Given the description of an element on the screen output the (x, y) to click on. 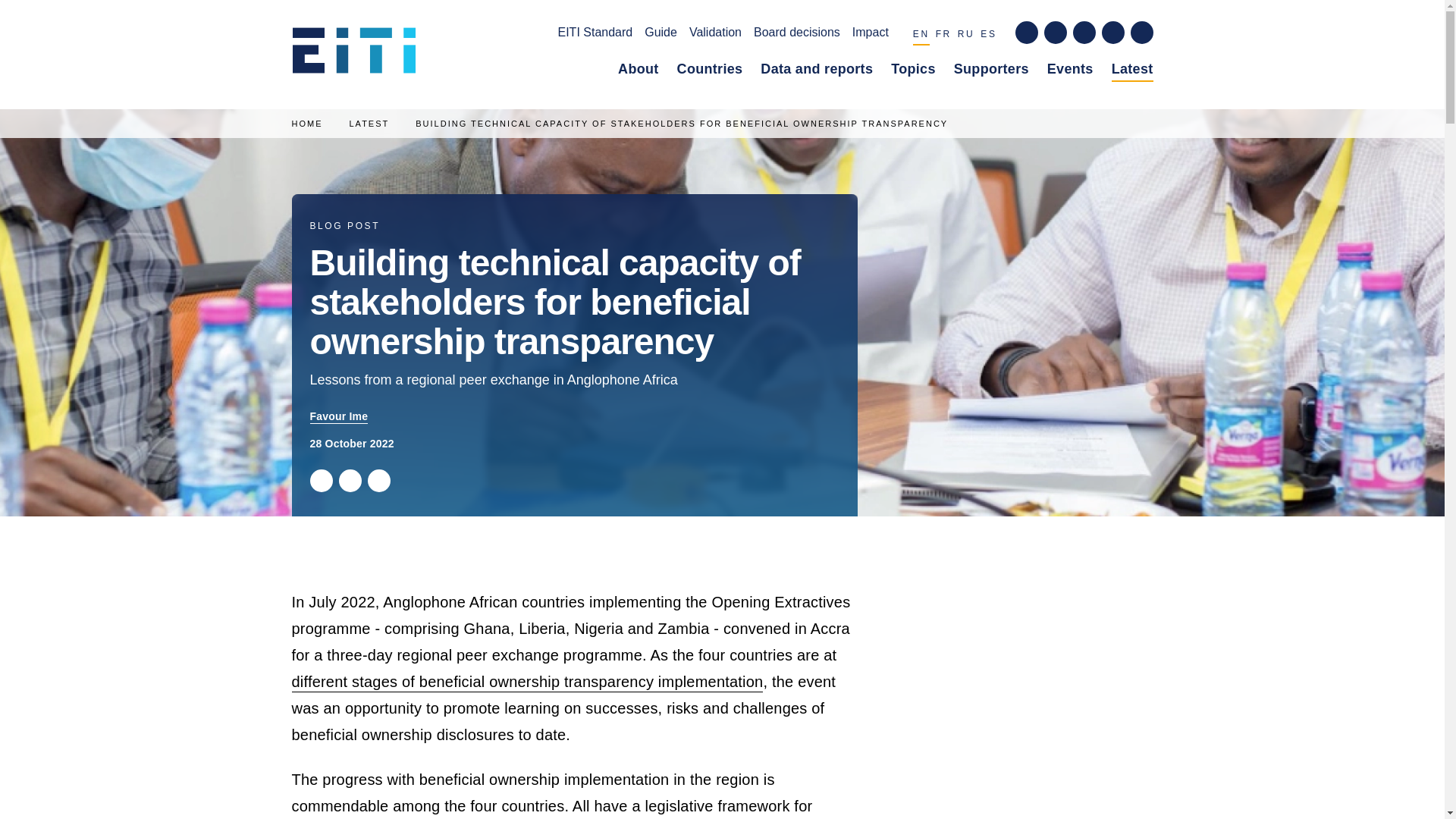
Board decisions (797, 35)
Find us on YouTube (1112, 32)
Facebook (349, 480)
Find us on Facebook (1025, 32)
Linkedin (378, 480)
FR (944, 36)
Guide (661, 35)
EN (921, 36)
Countries (709, 71)
Return to the homepage (358, 55)
